Given the description of an element on the screen output the (x, y) to click on. 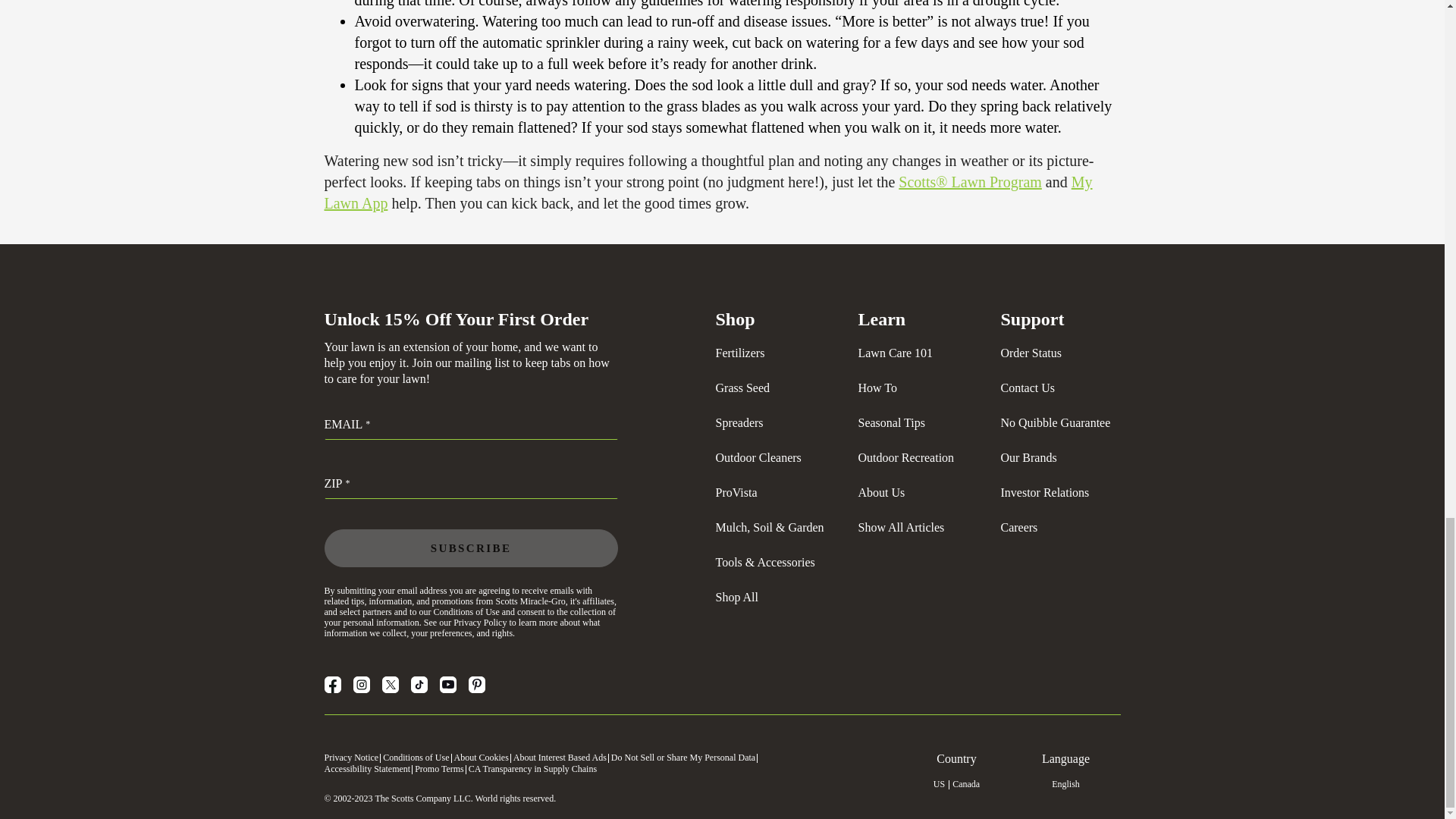
YouTube (448, 684)
TikTok (419, 684)
Pinterest (476, 684)
Instagram (361, 684)
Facebook (332, 684)
X (389, 684)
